Given the description of an element on the screen output the (x, y) to click on. 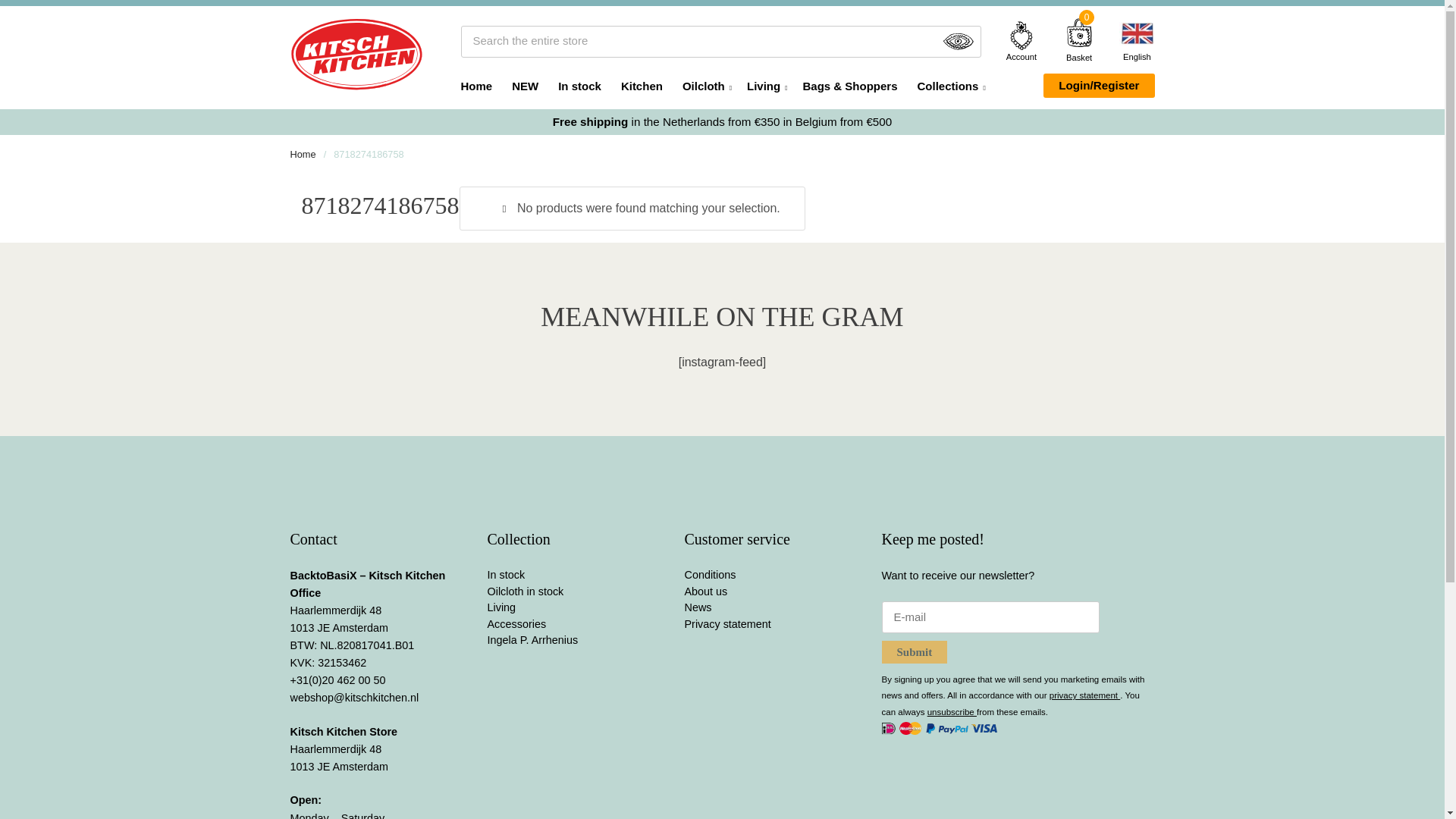
Kitchen (641, 84)
Home (302, 153)
In stock (579, 84)
Home (477, 84)
Search (958, 41)
Living (764, 84)
Submit (913, 651)
Oilcloth in stock (524, 591)
Oilcloth (704, 84)
Kitsch Kitchen (355, 53)
Search the entire store (721, 41)
Home (302, 153)
Collections (949, 84)
View your shopping cart (1078, 57)
In stock (505, 574)
